Given the description of an element on the screen output the (x, y) to click on. 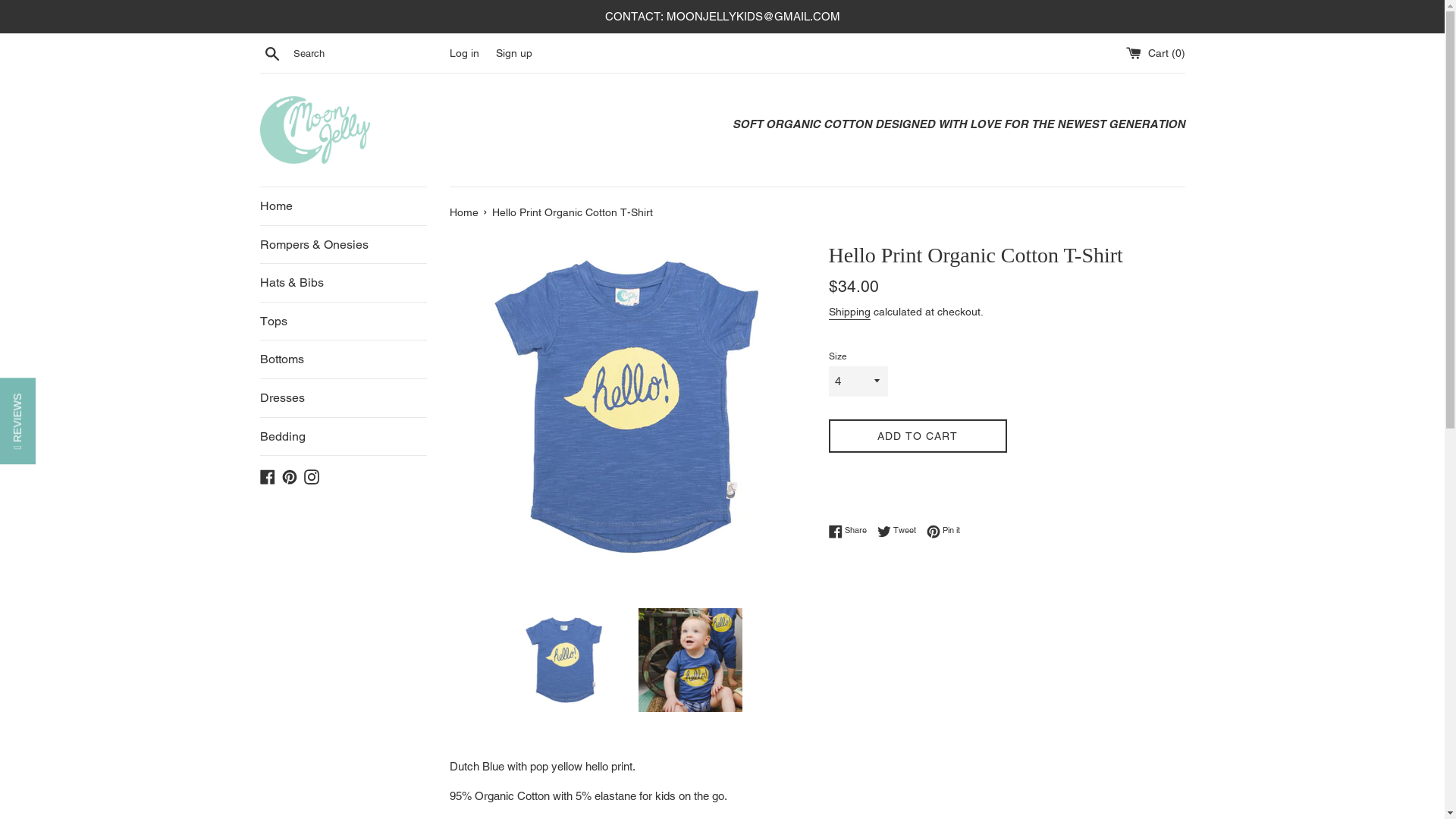
Bottoms Element type: text (342, 359)
Dresses Element type: text (342, 398)
Pin it
Pin on Pinterest Element type: text (943, 530)
Shipping Element type: text (848, 312)
Instagram Element type: text (310, 475)
Tweet
Tweet on Twitter Element type: text (899, 530)
Log in Element type: text (463, 53)
Home Element type: text (464, 212)
Hats & Bibs Element type: text (342, 282)
ADD TO CART Element type: text (917, 436)
Bedding Element type: text (342, 436)
Cart (0) Element type: text (1154, 53)
Rompers & Onesies Element type: text (342, 244)
Sign up Element type: text (513, 53)
Home Element type: text (342, 206)
Facebook Element type: text (266, 475)
Share
Share on Facebook Element type: text (850, 530)
Pinterest Element type: text (289, 475)
Search Element type: text (271, 52)
Tops Element type: text (342, 321)
